Given the description of an element on the screen output the (x, y) to click on. 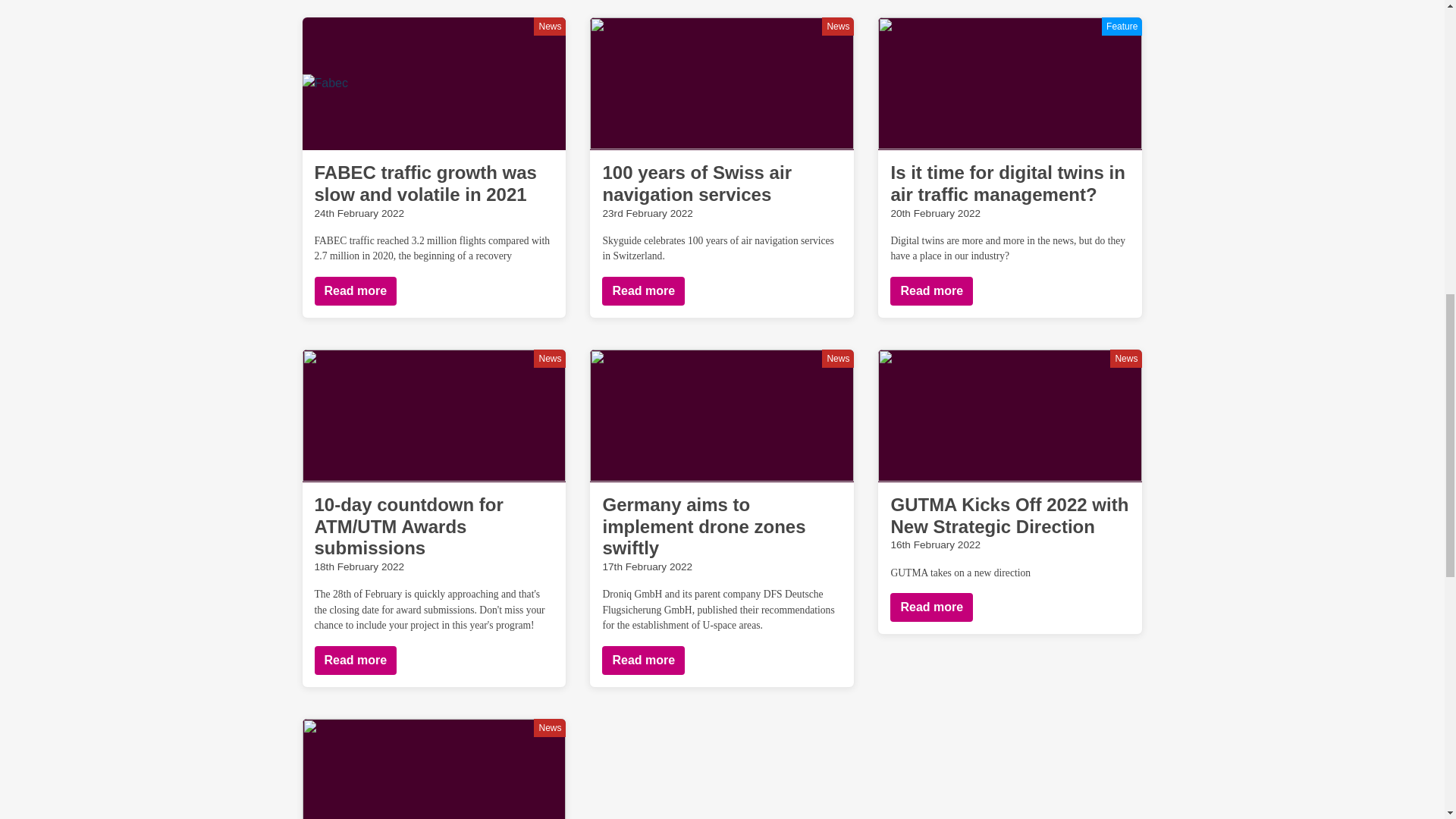
FABEC traffic growth was slow and volatile in 2021 (424, 183)
News (837, 26)
News (550, 26)
Read more (355, 290)
